Given the description of an element on the screen output the (x, y) to click on. 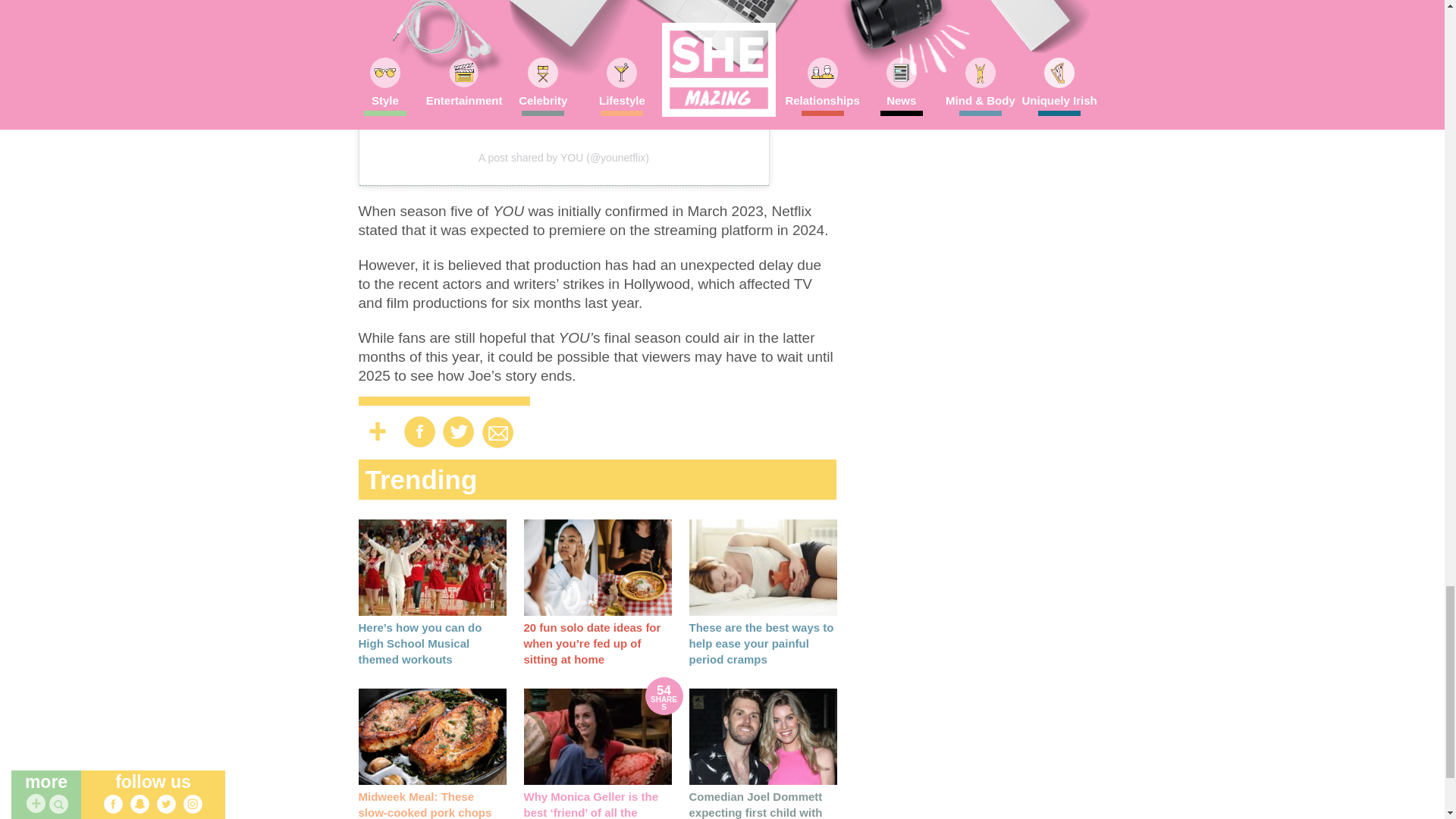
Comedian Joel Dommett expecting first child with wife Hannah (755, 804)
Midweek Meal: These slow-cooked pork chops are divine (431, 736)
Comedian Joel Dommett expecting first child with wife Hannah (761, 736)
Midweek Meal: These slow-cooked pork chops are divine (425, 804)
